Given the description of an element on the screen output the (x, y) to click on. 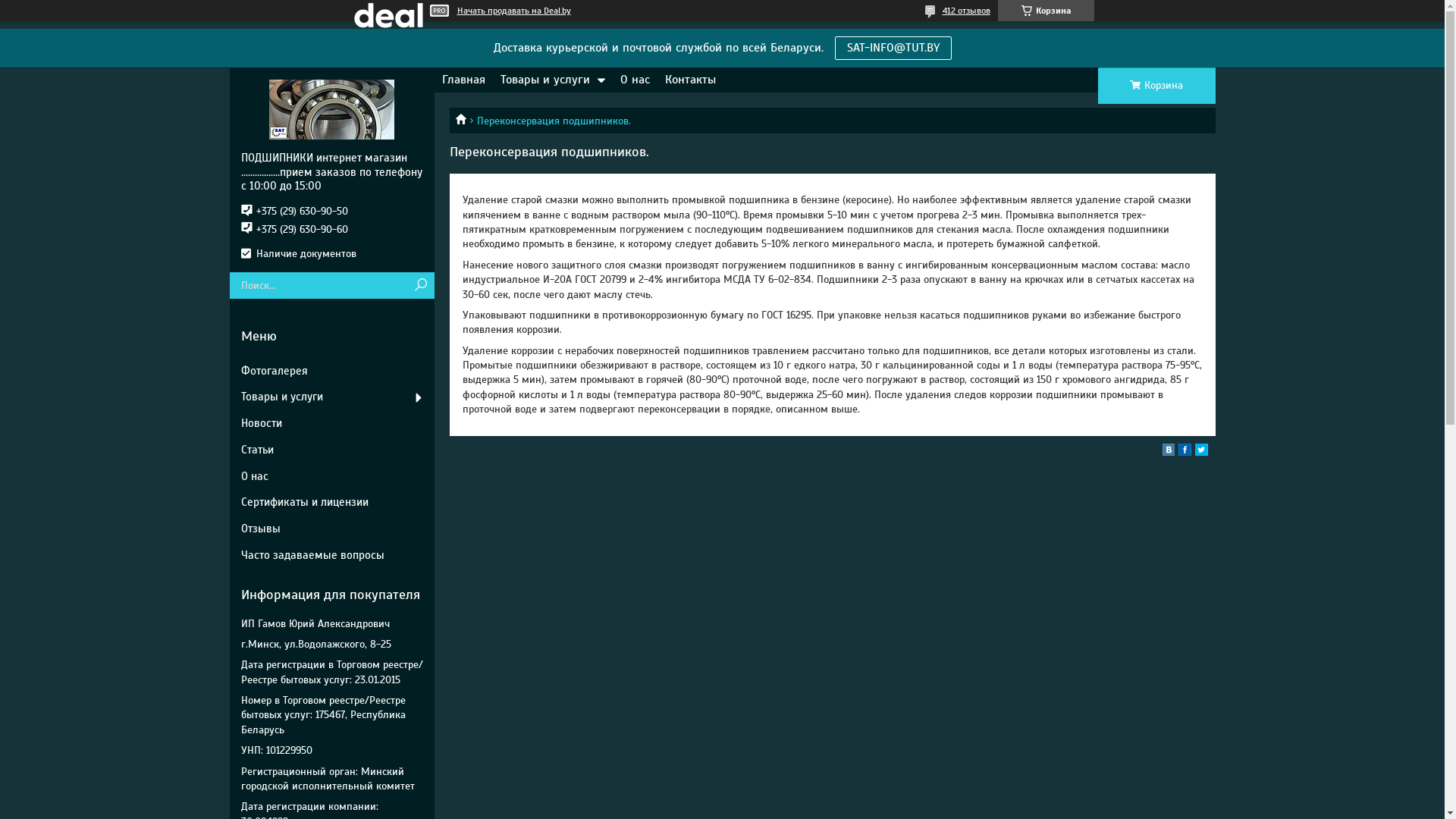
facebook Element type: hover (1184, 451)
SAT-INFO@TUT.BY Element type: text (892, 47)
twitter Element type: hover (1201, 451)
